Given the description of an element on the screen output the (x, y) to click on. 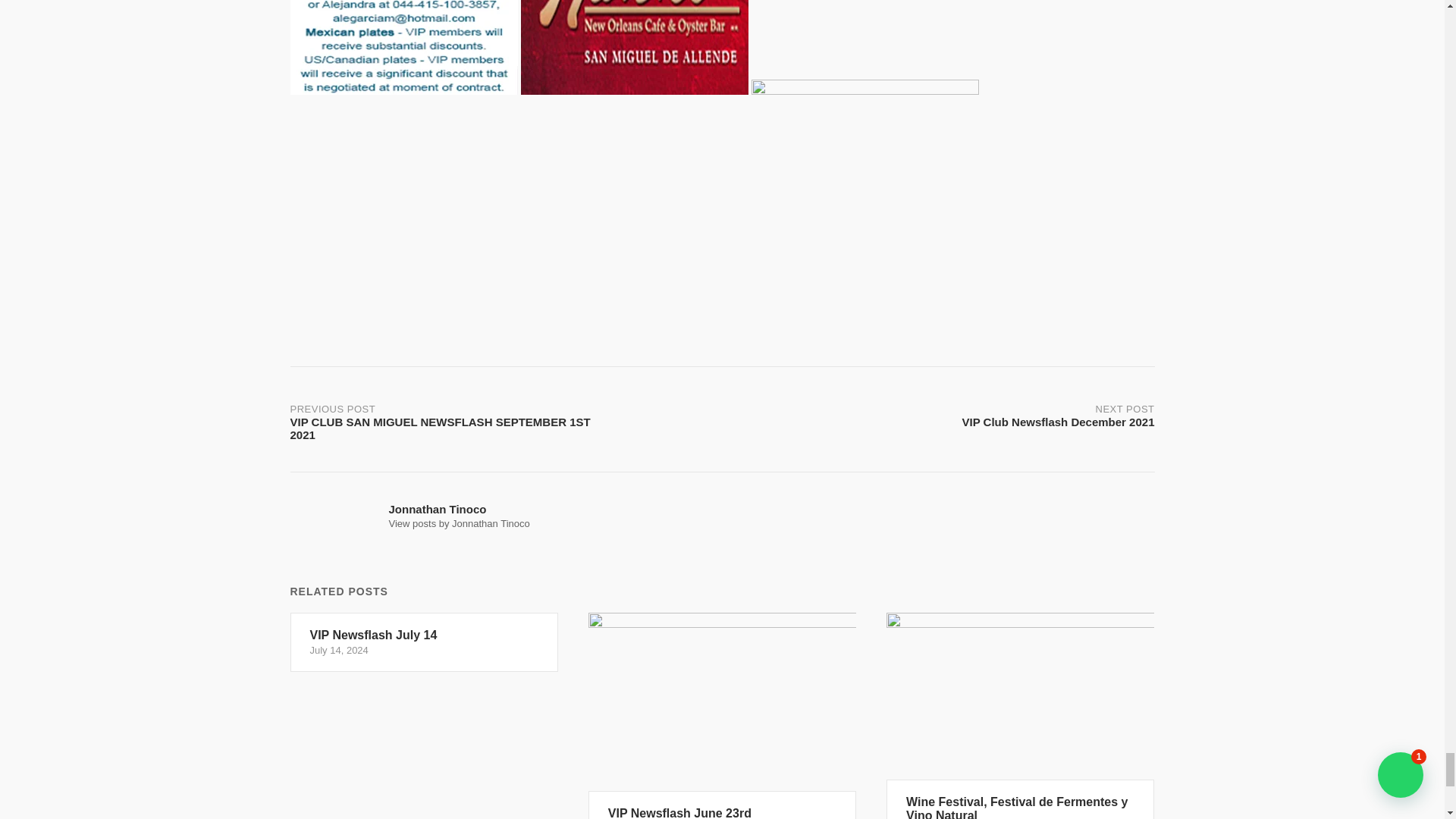
VIP Newsflash June 23rd (722, 715)
View posts by Jonnathan Tinoco (722, 715)
VIP Newsflash July 14 (458, 523)
Wine Festival, Festival de Fermentes y Vino Natural (938, 412)
